Given the description of an element on the screen output the (x, y) to click on. 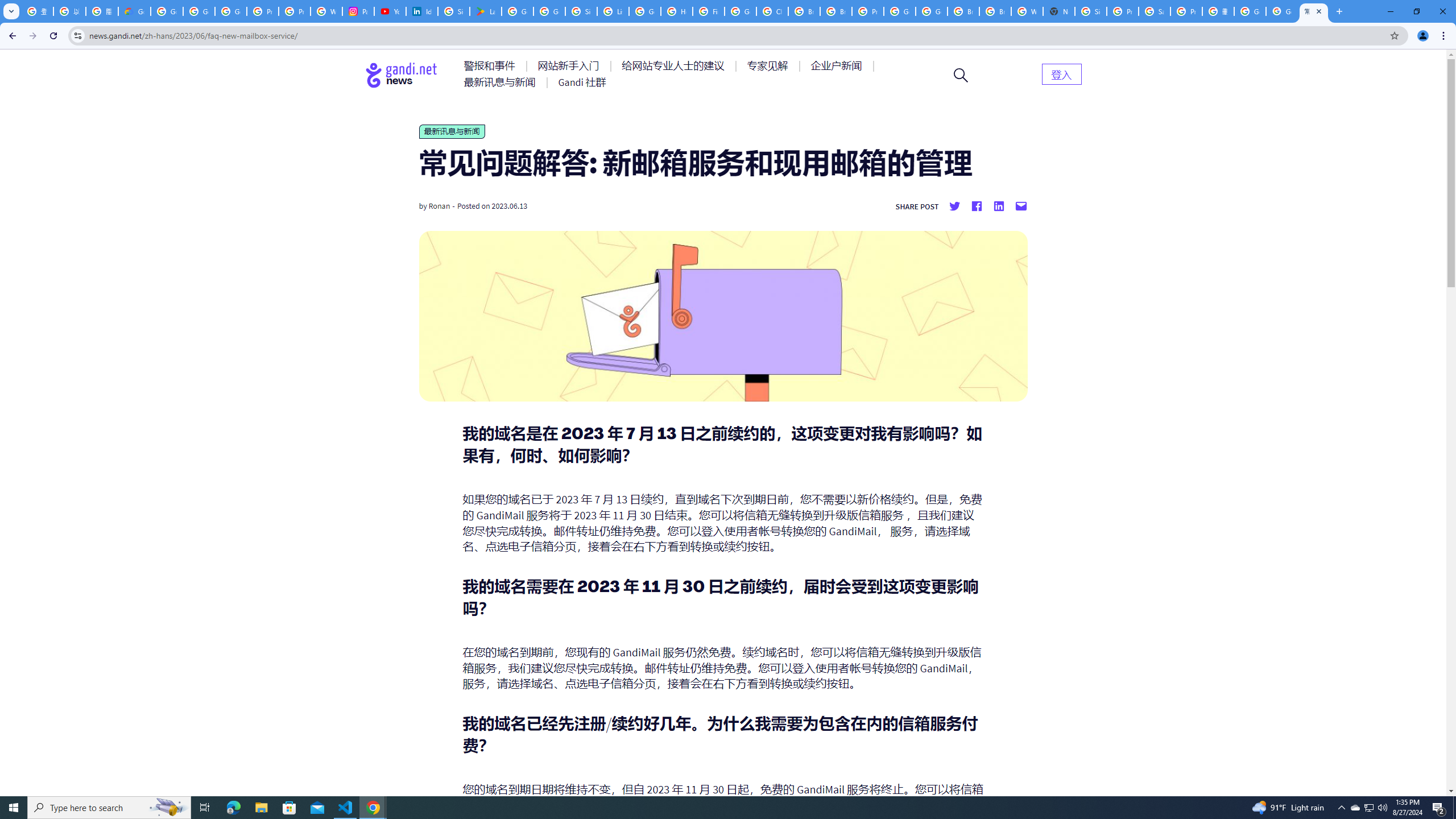
AutomationID: menu-item-77763 (674, 65)
Ronan (438, 205)
YouTube Culture & Trends - On The Rise: Handcam Videos (389, 11)
